Given the description of an element on the screen output the (x, y) to click on. 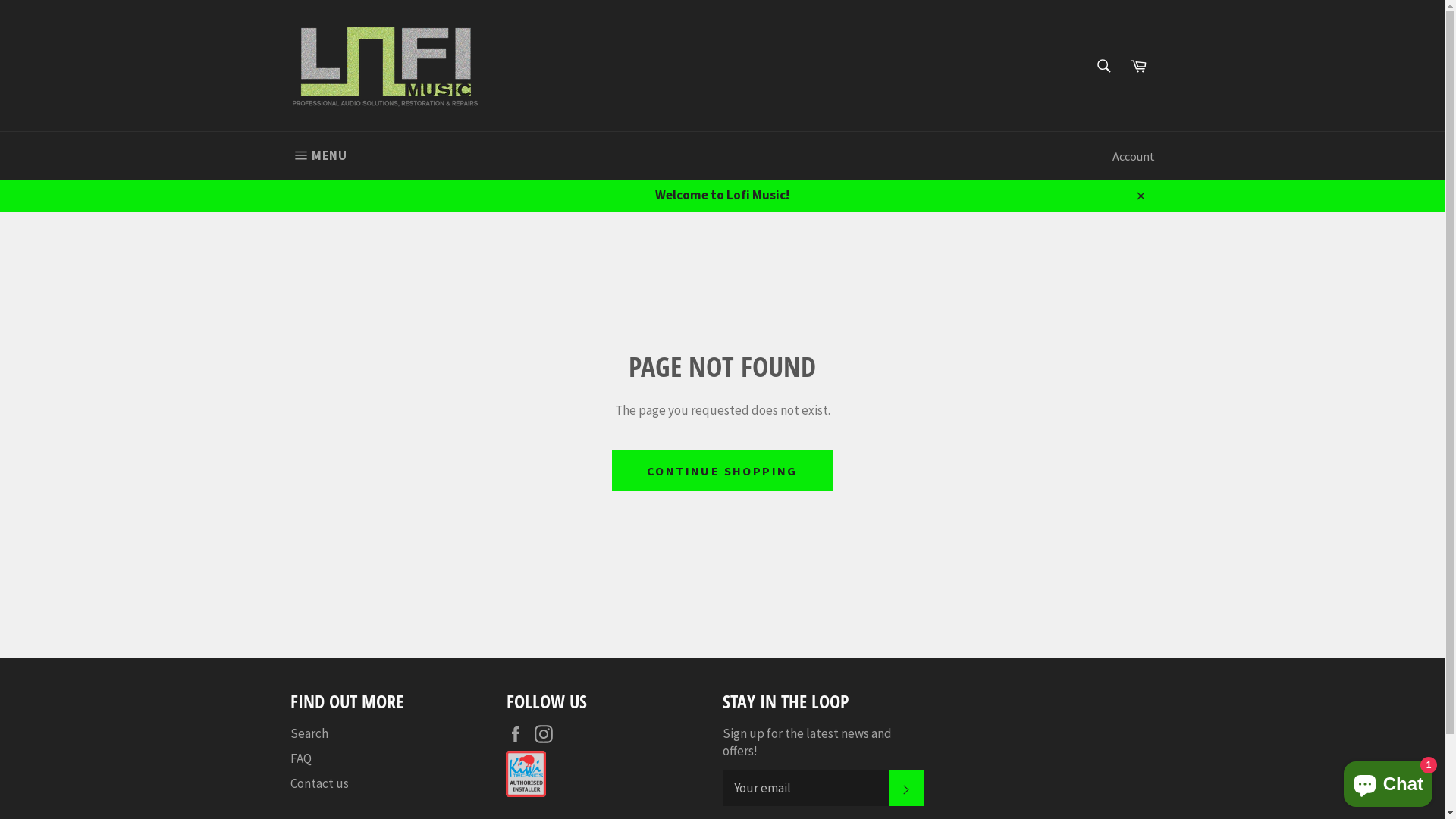
Facebook Element type: text (519, 733)
CONTINUE SHOPPING Element type: text (721, 470)
Account Element type: text (1132, 155)
MENU
SITE NAVIGATION Element type: text (317, 155)
Close Element type: text (1138, 194)
SUBSCRIBE Element type: text (905, 787)
Search Element type: text (1102, 65)
Instagram Element type: text (546, 733)
Shopify online store chat Element type: hover (1388, 780)
Contact us Element type: text (318, 783)
Search Element type: text (308, 732)
FAQ Element type: text (299, 757)
Cart Element type: text (1138, 65)
